Given the description of an element on the screen output the (x, y) to click on. 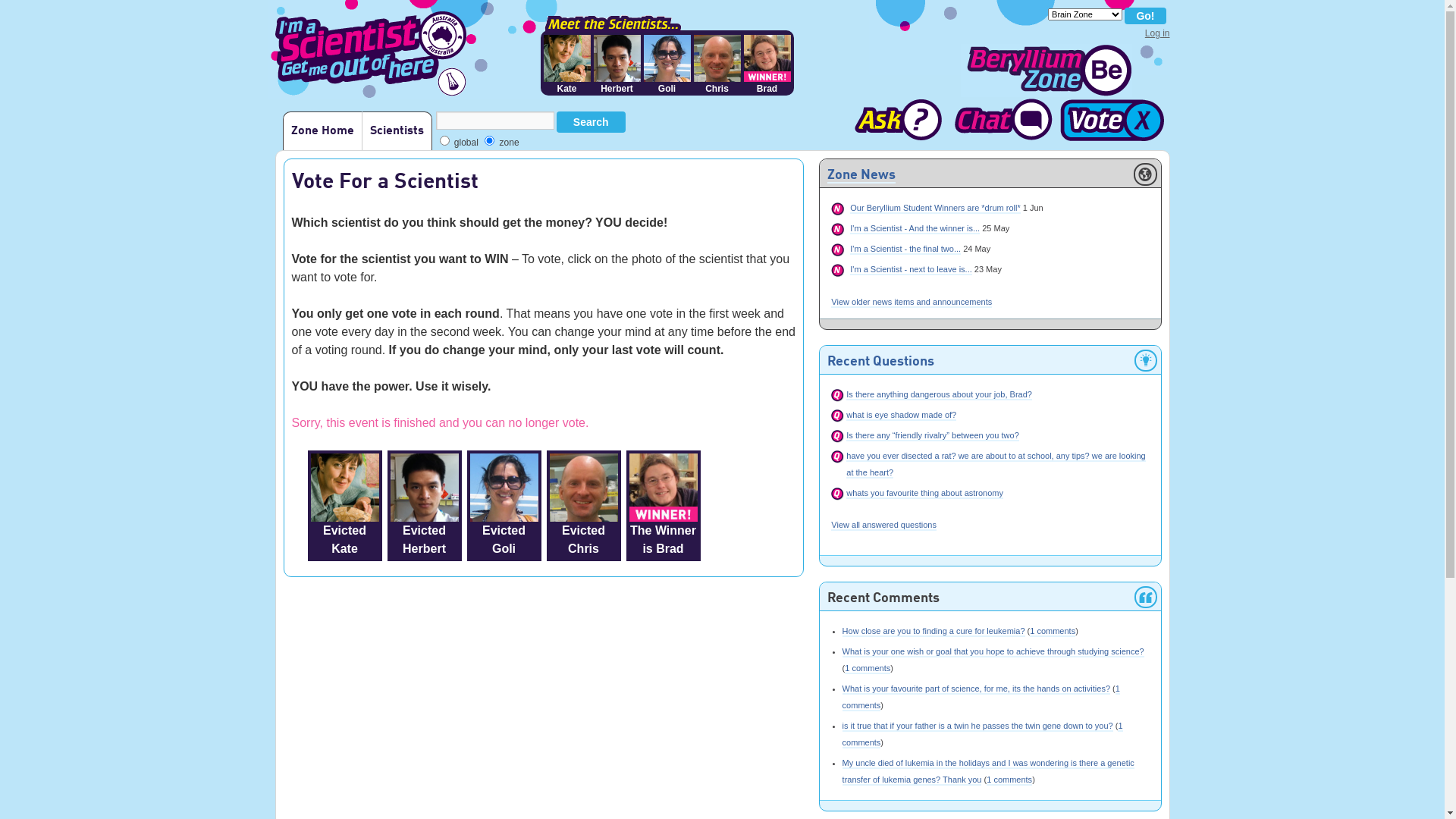
1 comments Element type: text (1009, 780)
Goli Element type: text (666, 64)
1 comments Element type: text (867, 668)
Recent Questions Element type: text (880, 362)
View older news items and announcements Element type: text (911, 302)
Evicted
Goli Element type: text (504, 505)
what is eye shadow made of? Element type: text (901, 415)
Search Element type: text (590, 121)
Evicted
Kate Element type: text (344, 505)
Evicted
Herbert Element type: text (423, 505)
Kate Element type: text (565, 64)
Is there anything dangerous about your job, Brad? Element type: text (939, 394)
1 comments Element type: text (981, 697)
Go! Element type: text (1144, 15)
Zone News Element type: text (861, 175)
The Winner is Brad Element type: text (663, 505)
I'm a Scientist - And the winner is... Element type: text (914, 228)
Log in Element type: text (1157, 33)
1 comments Element type: text (982, 734)
Brad Element type: text (766, 64)
whats you favourite thing about astronomy Element type: text (924, 493)
1 comments Element type: text (1052, 631)
I'm a Scientist - the final two... Element type: text (905, 249)
Go to Zone home Element type: hover (1045, 70)
Herbert Element type: text (616, 64)
Chris Element type: text (716, 64)
View all answered questions Element type: text (883, 525)
Our Beryllium Student Winners are *drum roll* Element type: text (934, 208)
Zone Home Element type: text (321, 130)
Evicted
Chris Element type: text (583, 505)
How close are you to finding a cure for leukemia? Element type: text (933, 631)
Scientists Element type: text (395, 130)
I'm a Scientist - next to leave is... Element type: text (910, 269)
